Given the description of an element on the screen output the (x, y) to click on. 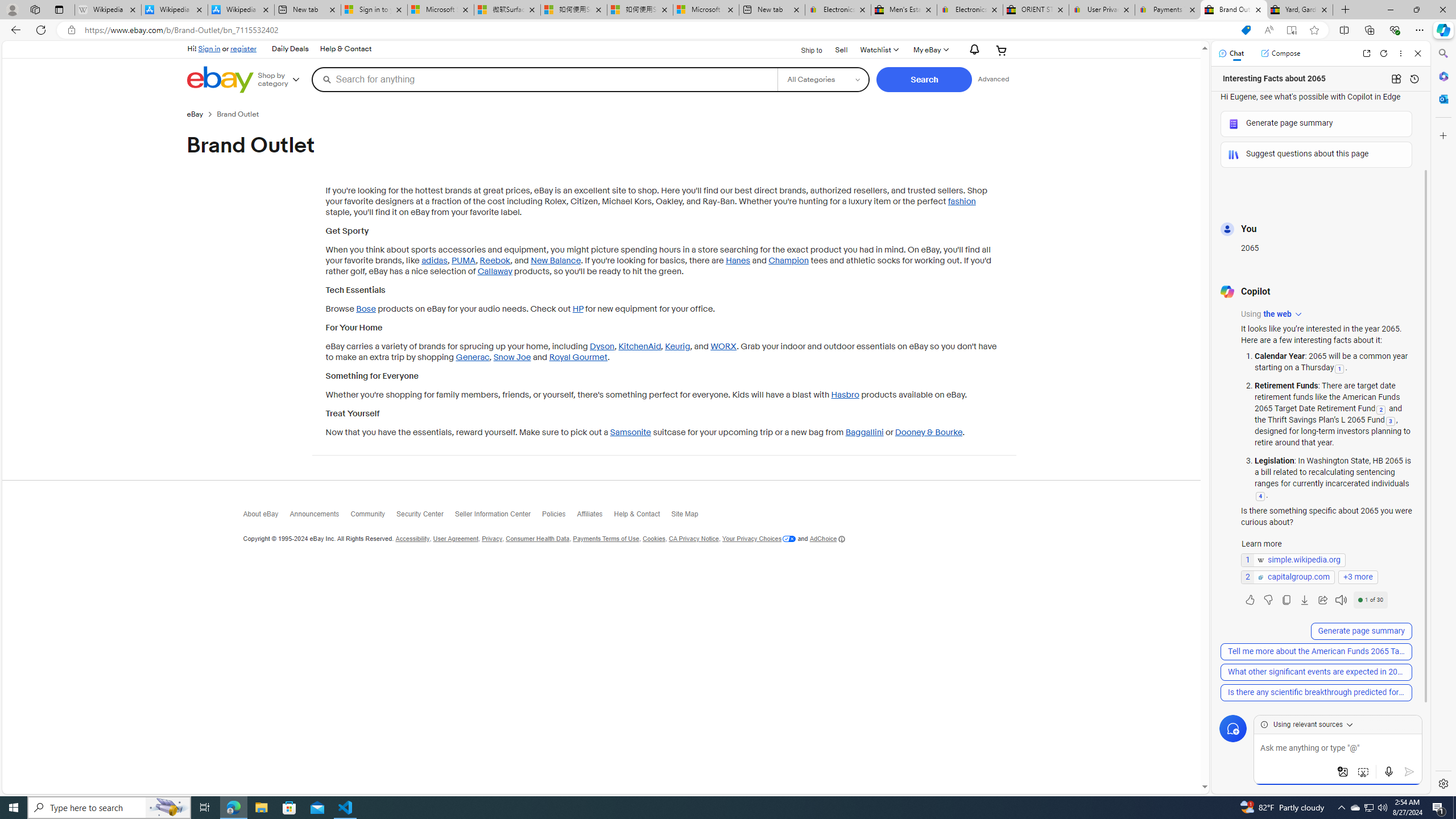
Security Center (425, 516)
About eBay (266, 517)
My eBay (930, 49)
eBay Home (219, 79)
Hasbro (845, 394)
Seller Information Center (498, 516)
Ship to (804, 50)
Hanes (738, 260)
Your shopping cart (1001, 49)
Brand Outlet products for sale | eBay (1233, 9)
